Given the description of an element on the screen output the (x, y) to click on. 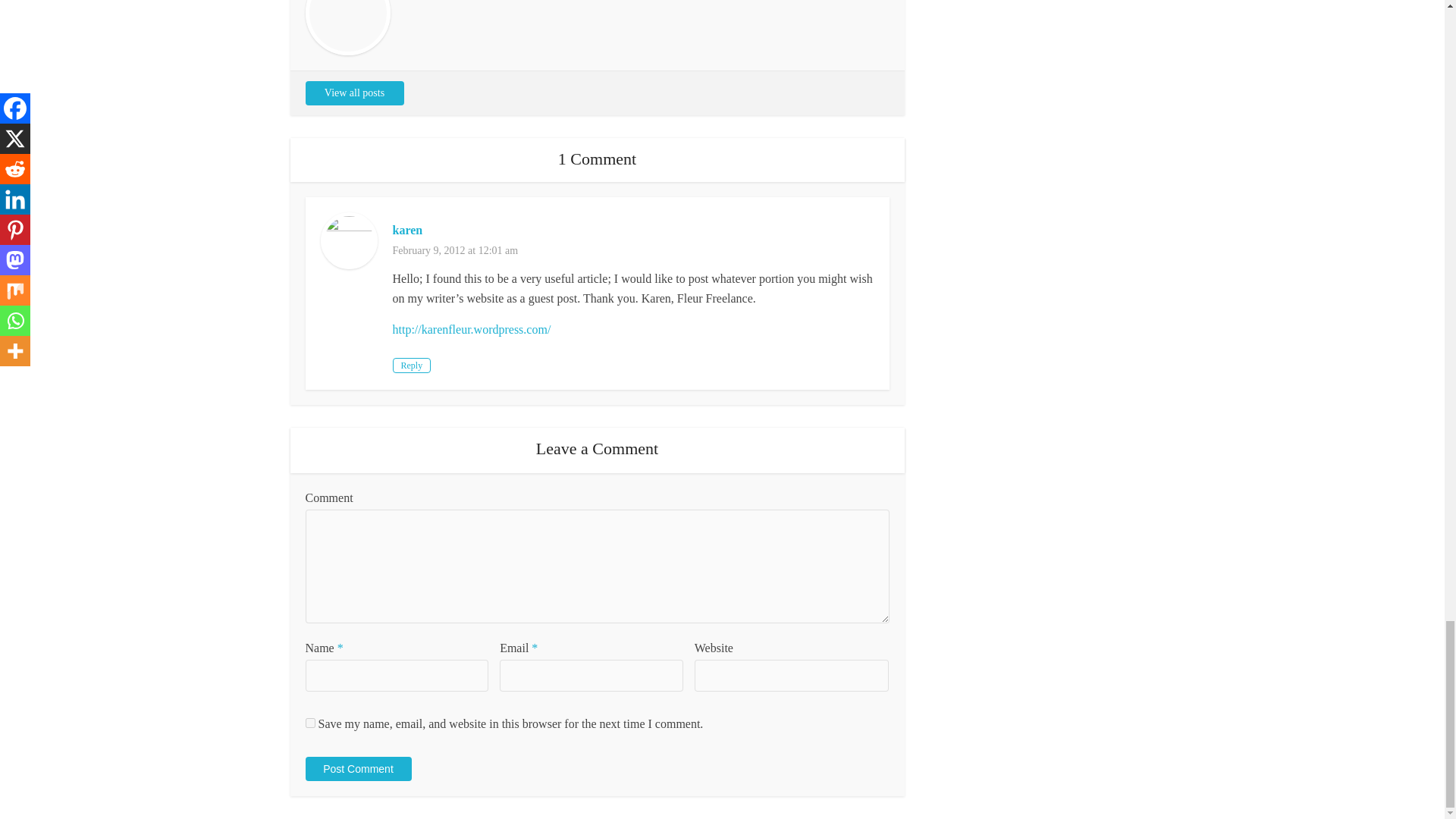
Post Comment (357, 768)
yes (309, 723)
